Given the description of an element on the screen output the (x, y) to click on. 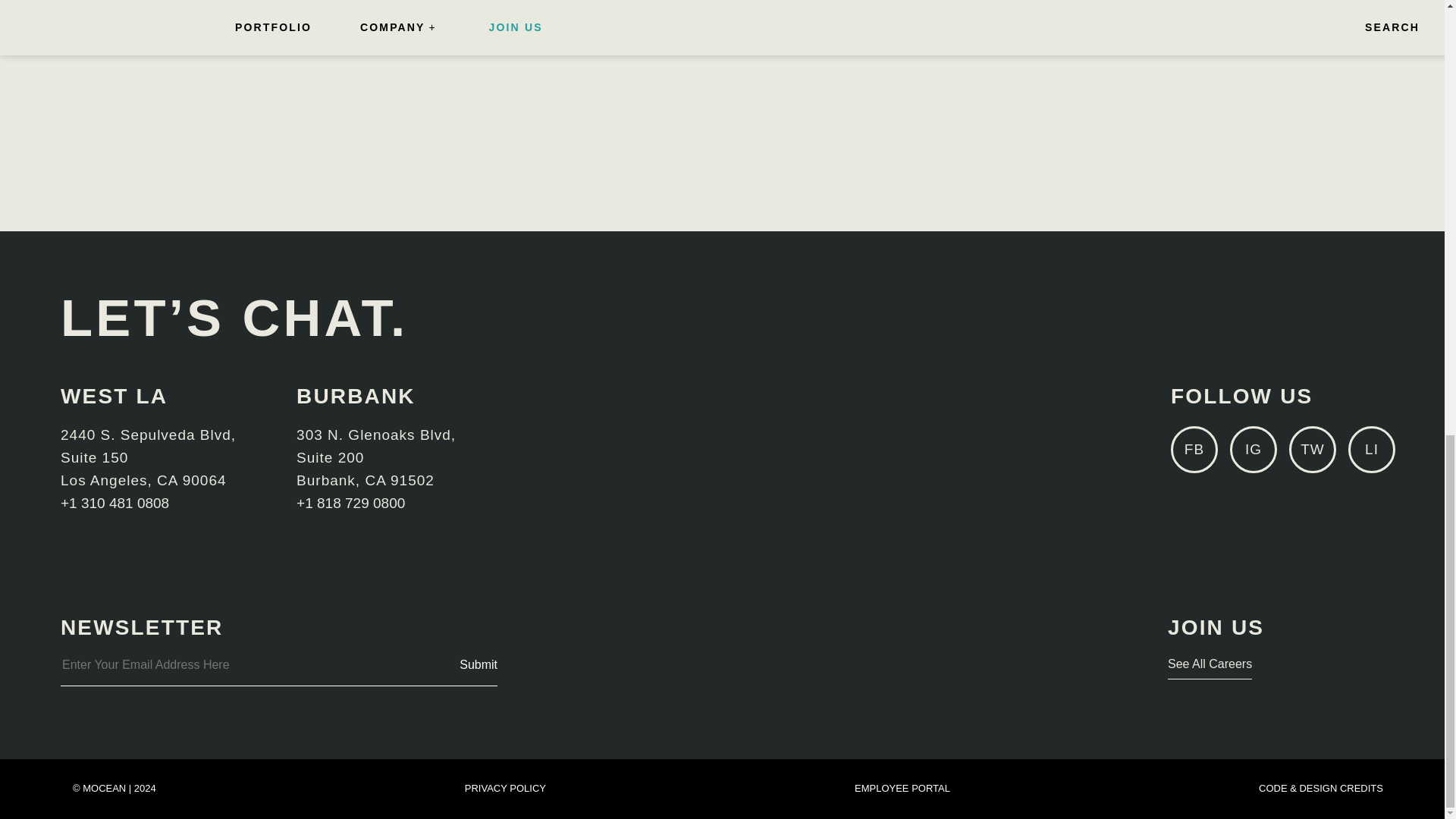
Submit (478, 664)
IG (1253, 449)
FB (1193, 449)
LI (1371, 449)
TW (1312, 449)
EMPLOYEE PORTAL (902, 787)
See All Careers (1209, 667)
PRIVACY POLICY (505, 787)
